Given the description of an element on the screen output the (x, y) to click on. 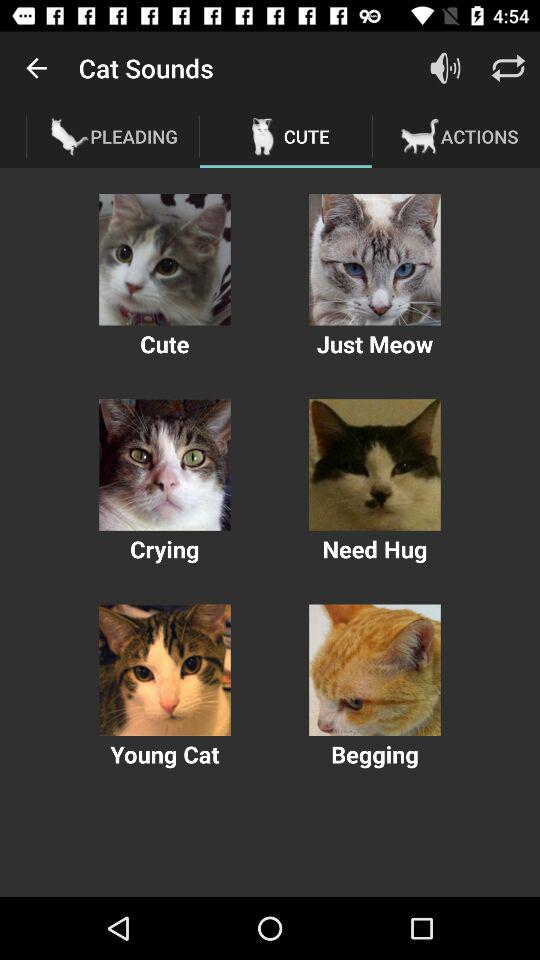
sound is on (445, 67)
